Given the description of an element on the screen output the (x, y) to click on. 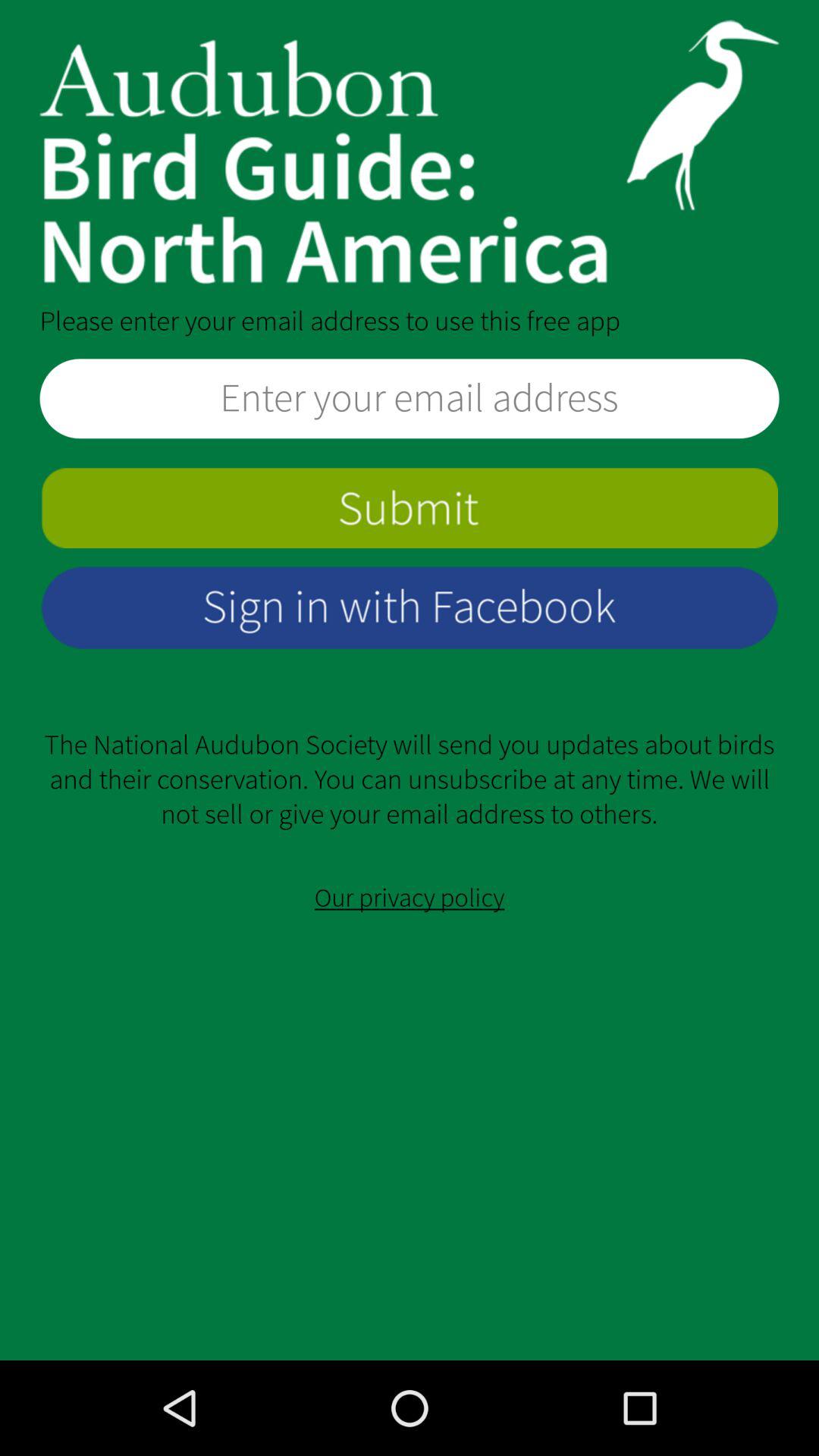
press the icon below the the national audubon icon (409, 897)
